Given the description of an element on the screen output the (x, y) to click on. 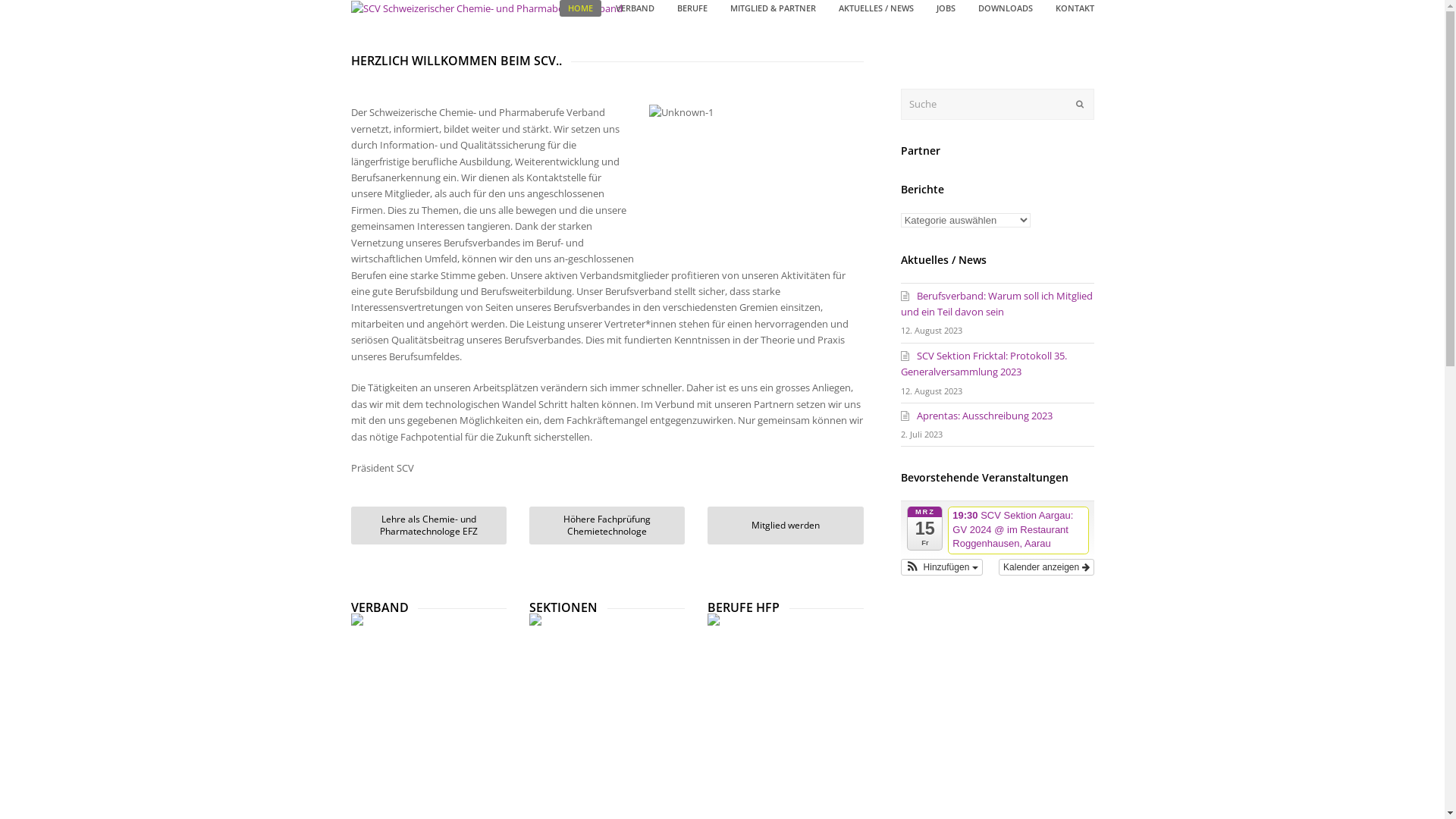
Lehre als Chemie- und Pharmatechnologe EFZ Element type: text (427, 525)
OK Element type: text (1078, 103)
Aprentas: Ausschreibung 2023 Element type: text (976, 415)
Mitglied werden Element type: text (784, 525)
SCV Sektion Fricktal: Protokoll 35. Generalversammlung 2023 Element type: text (983, 363)
Kalender anzeigen Element type: text (1045, 566)
MRZ
15
Fr Element type: text (924, 528)
